Given the description of an element on the screen output the (x, y) to click on. 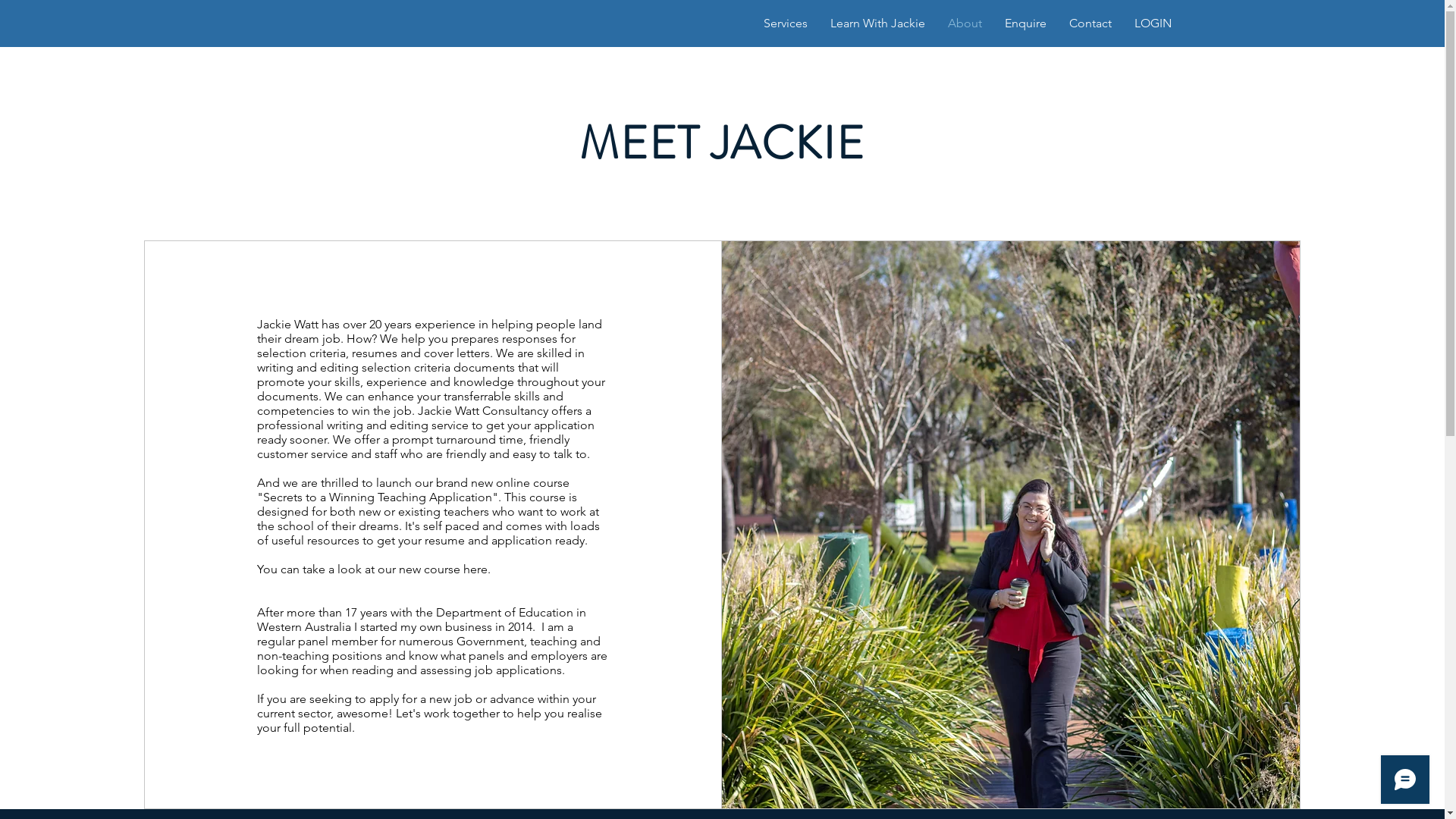
About Element type: text (963, 23)
Enquire Element type: text (1025, 23)
Learn With Jackie Element type: text (877, 23)
Contact Element type: text (1089, 23)
Services Element type: text (785, 23)
LOGIN Element type: text (1152, 23)
